Given the description of an element on the screen output the (x, y) to click on. 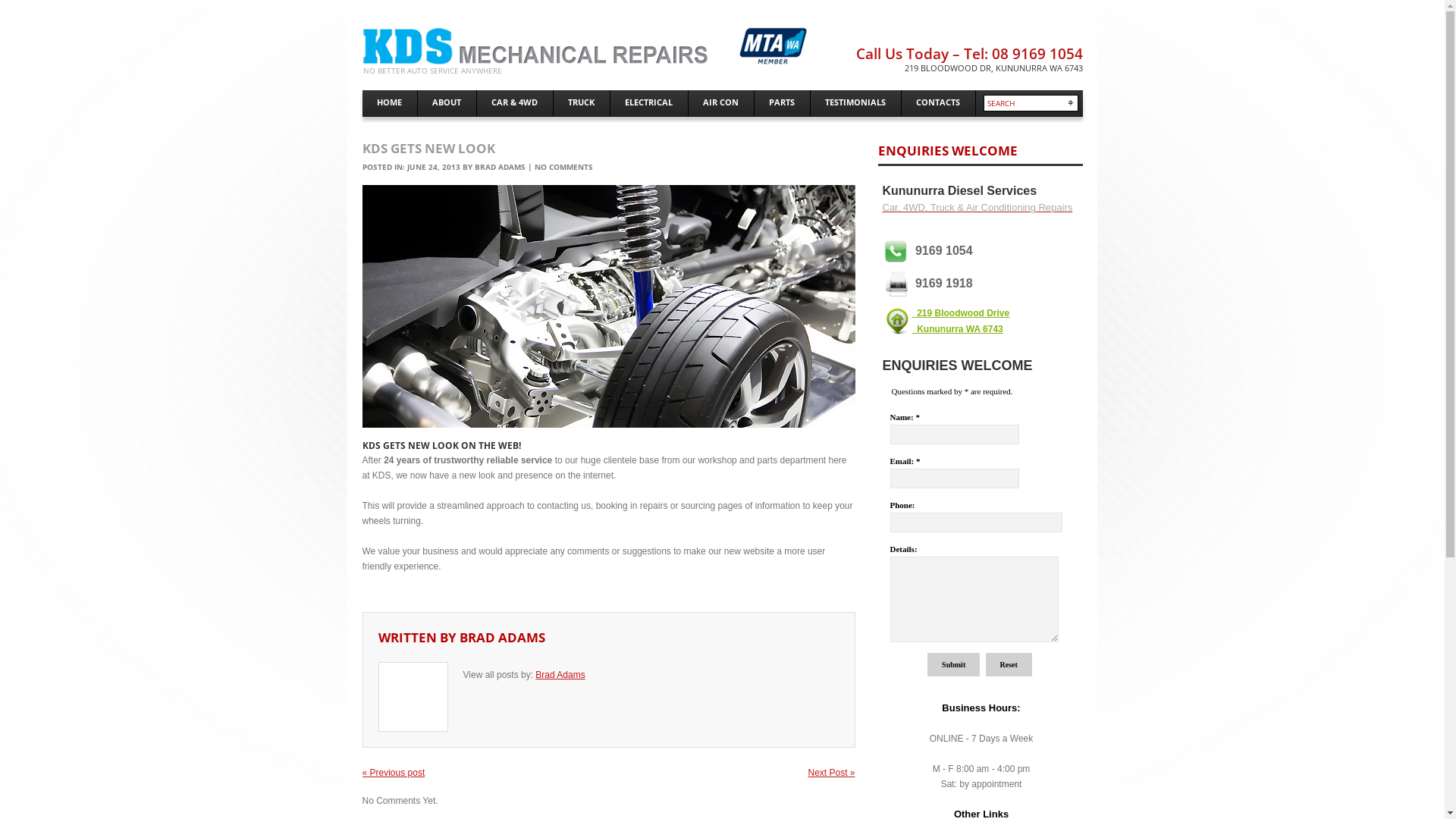
TRUCK Element type: text (581, 103)
BRAD ADAMS Element type: text (502, 637)
NO COMMENTS Element type: text (562, 166)
HOME Element type: text (389, 103)
CAR & 4WD Element type: text (514, 103)
PARTS Element type: text (781, 103)
ELECTRICAL Element type: text (648, 103)
Car, 4WD, Truck & Air Conditioning Repairs Element type: text (977, 215)
ABOUT Element type: text (446, 103)
Brad Adams Element type: text (559, 674)
No better auto service anywhere Element type: hover (589, 45)
BRAD ADAMS Element type: text (499, 166)
AIR CON Element type: text (720, 103)
  219 Bloodwood Drive
  Kununurra WA 6743 Element type: text (960, 320)
Submit Element type: text (953, 664)
TESTIMONIALS Element type: text (854, 103)
CONTACTS Element type: text (937, 103)
